Given the description of an element on the screen output the (x, y) to click on. 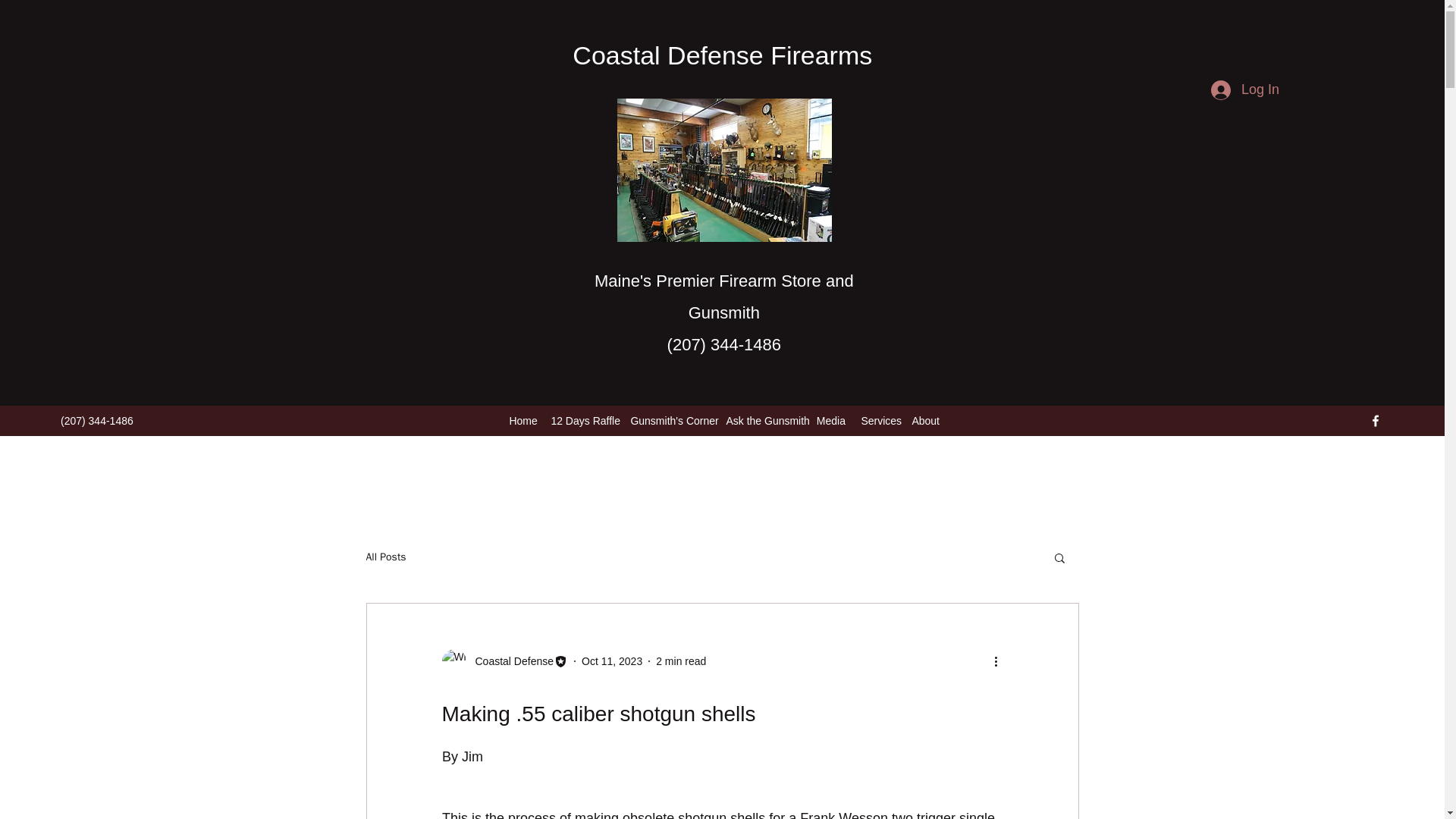
About (924, 420)
Coastal Defense (509, 661)
Media (830, 420)
Coastal Defense Firearms (722, 54)
Maine's Premier Firearm Store and Gunsmith (723, 296)
All Posts (385, 557)
Services (878, 420)
Home (521, 420)
Log In (1244, 90)
Ask the Gunsmith (762, 420)
Coastal Defense (504, 661)
12 Days Raffle (583, 420)
Oct 11, 2023 (611, 661)
Gunsmith's Corner (670, 420)
2 min read (681, 661)
